Given the description of an element on the screen output the (x, y) to click on. 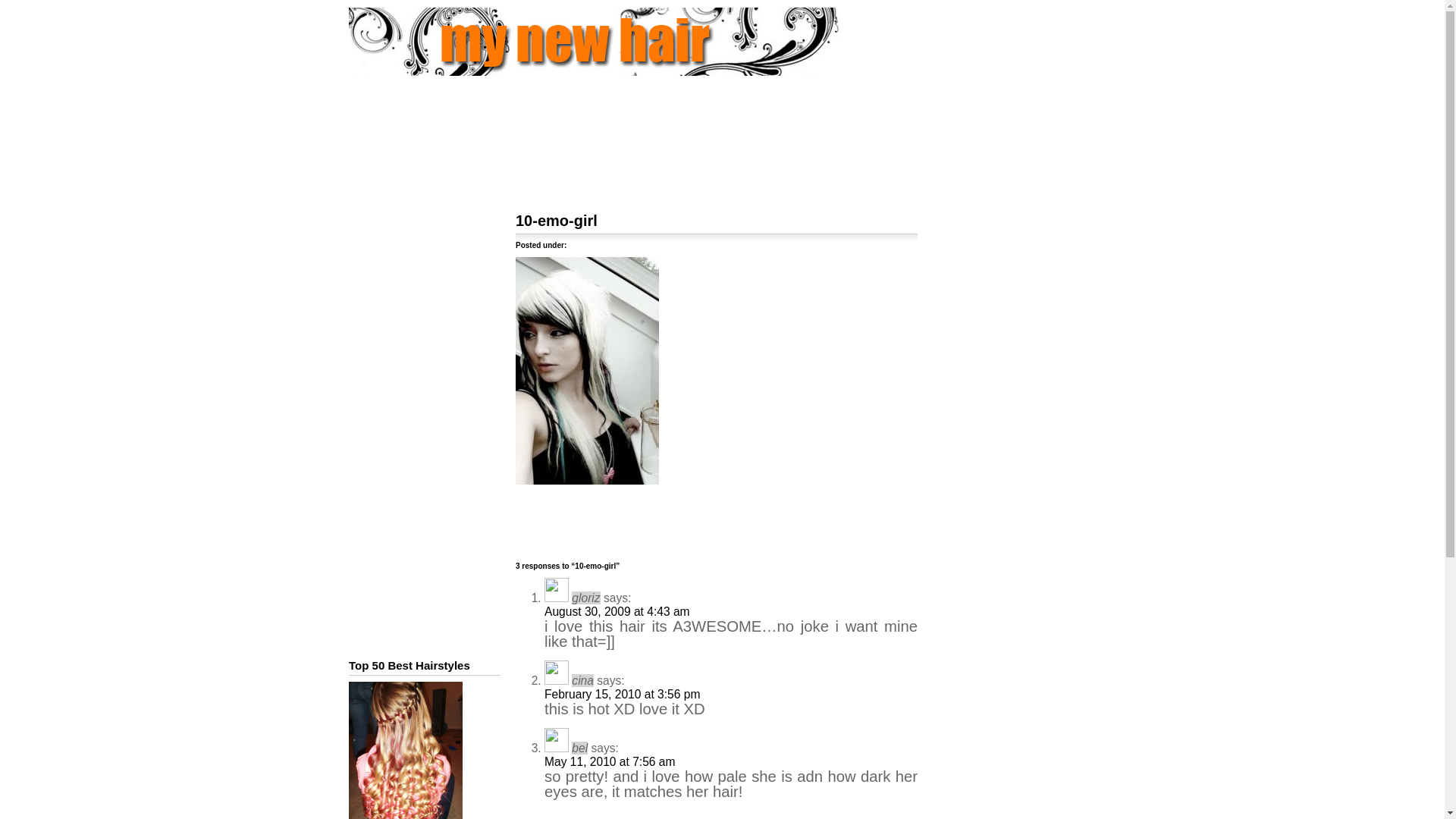
August 30, 2009 at 4:43 am (617, 611)
My New Hair (625, 70)
February 15, 2010 at 3:56 pm (622, 694)
May 11, 2010 at 7:56 am (609, 761)
10-emo-girl (555, 220)
Advertisement (721, 128)
